Given the description of an element on the screen output the (x, y) to click on. 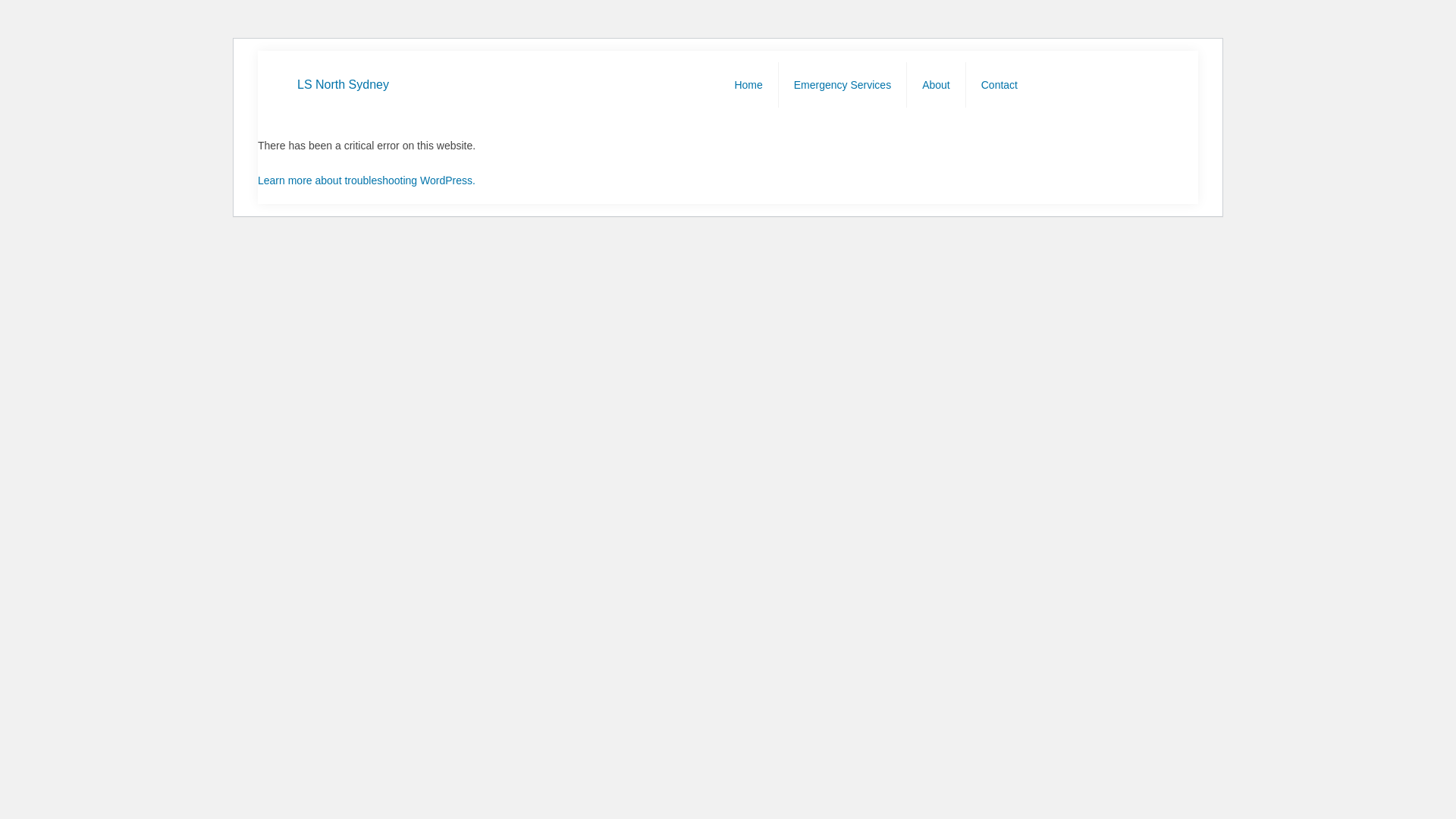
LS North Sydney Element type: text (343, 84)
About Element type: text (936, 84)
Home Element type: text (748, 84)
Emergency Services Element type: text (842, 84)
Contact Element type: text (999, 84)
Learn more about troubleshooting WordPress. Element type: text (366, 180)
